Given the description of an element on the screen output the (x, y) to click on. 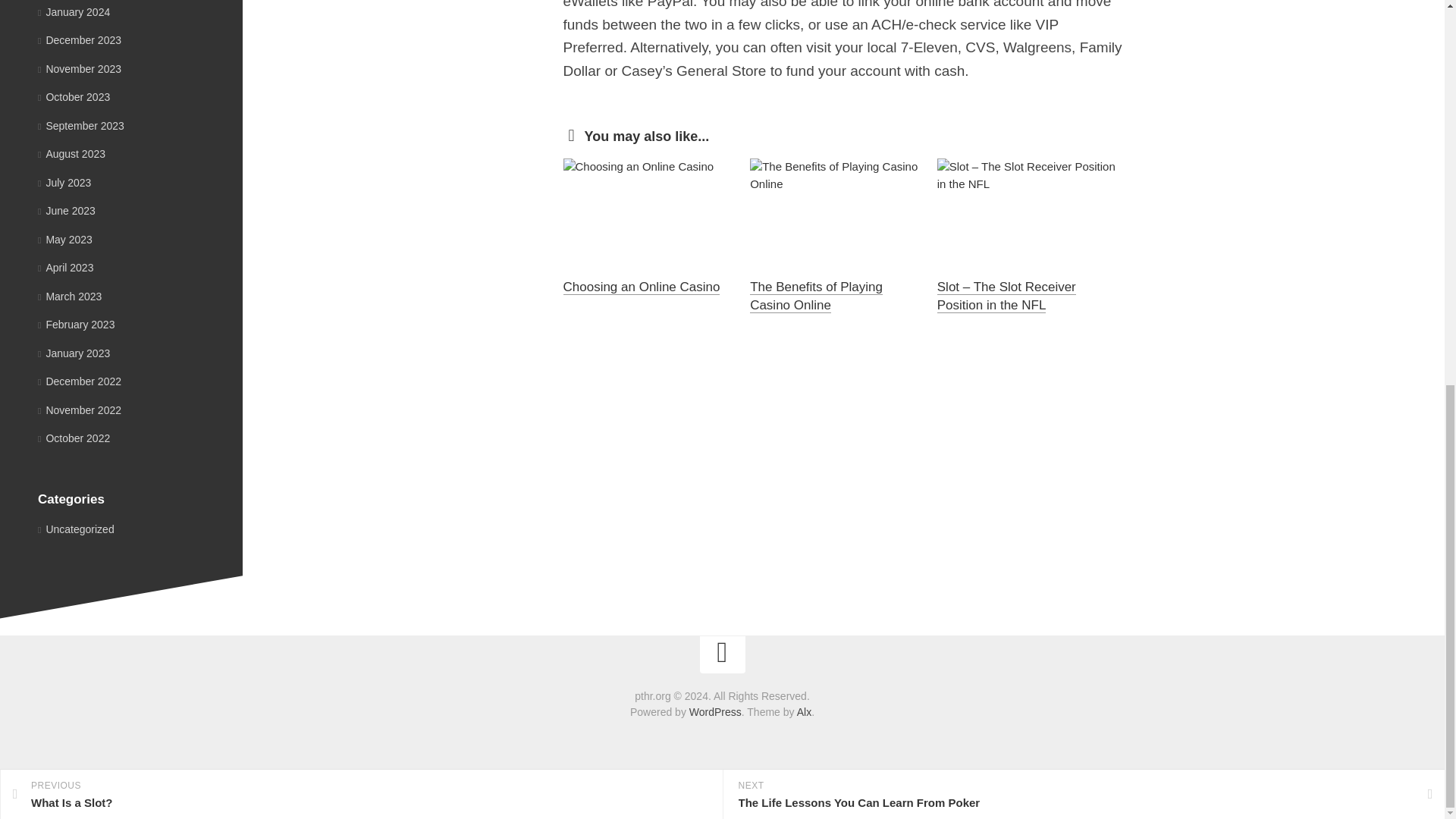
April 2023 (65, 267)
June 2023 (66, 210)
September 2023 (80, 125)
January 2024 (361, 69)
January 2023 (73, 11)
December 2023 (73, 353)
November 2023 (78, 39)
October 2023 (78, 68)
March 2023 (73, 96)
